Given the description of an element on the screen output the (x, y) to click on. 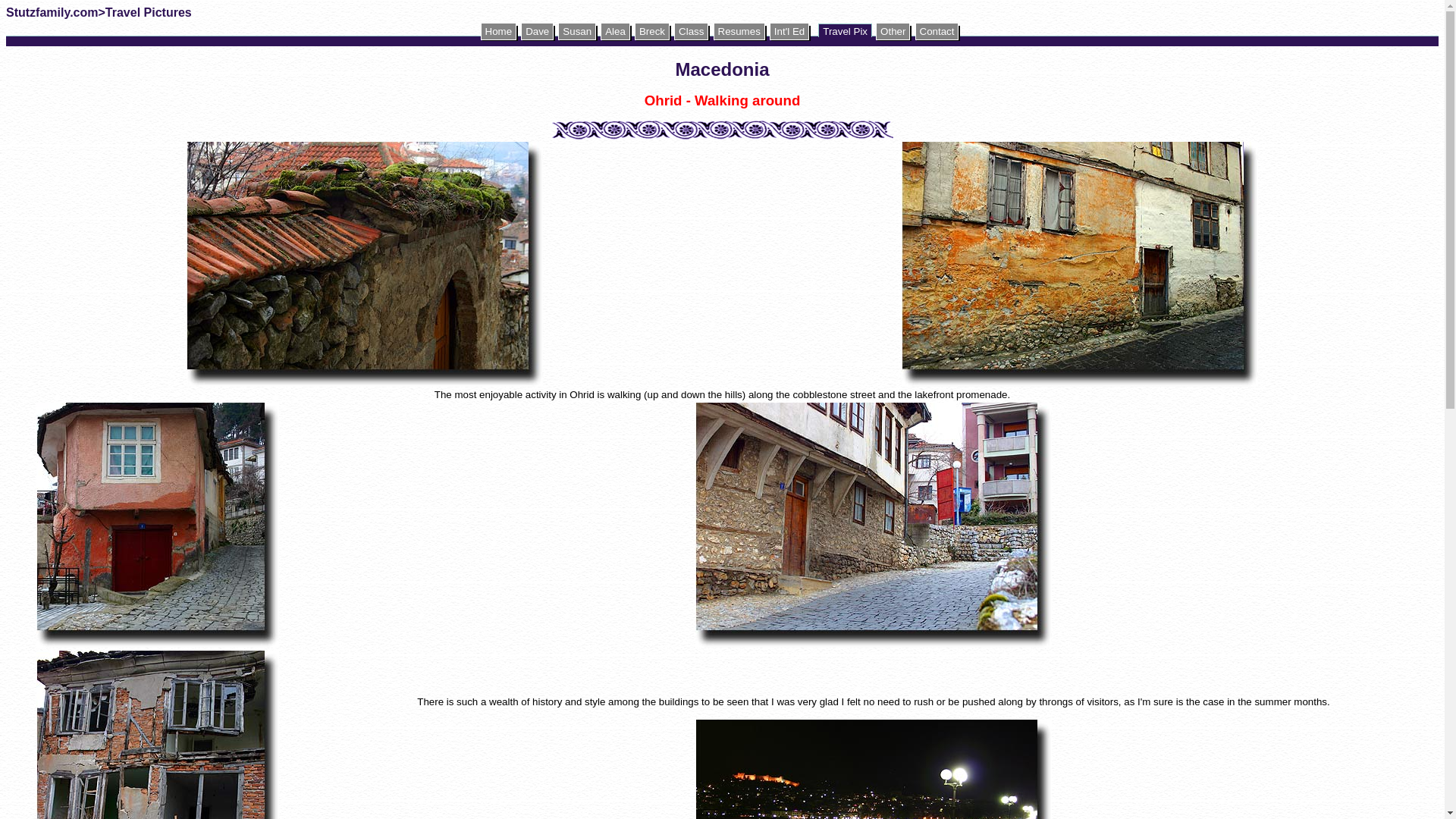
Resumes (738, 31)
Travel Pix (845, 29)
Alea (614, 31)
Int'l Ed (789, 31)
Dave (537, 31)
Other (893, 31)
Home (498, 31)
Susan (576, 31)
Class (690, 31)
Contact (936, 31)
Breck (651, 31)
